Given the description of an element on the screen output the (x, y) to click on. 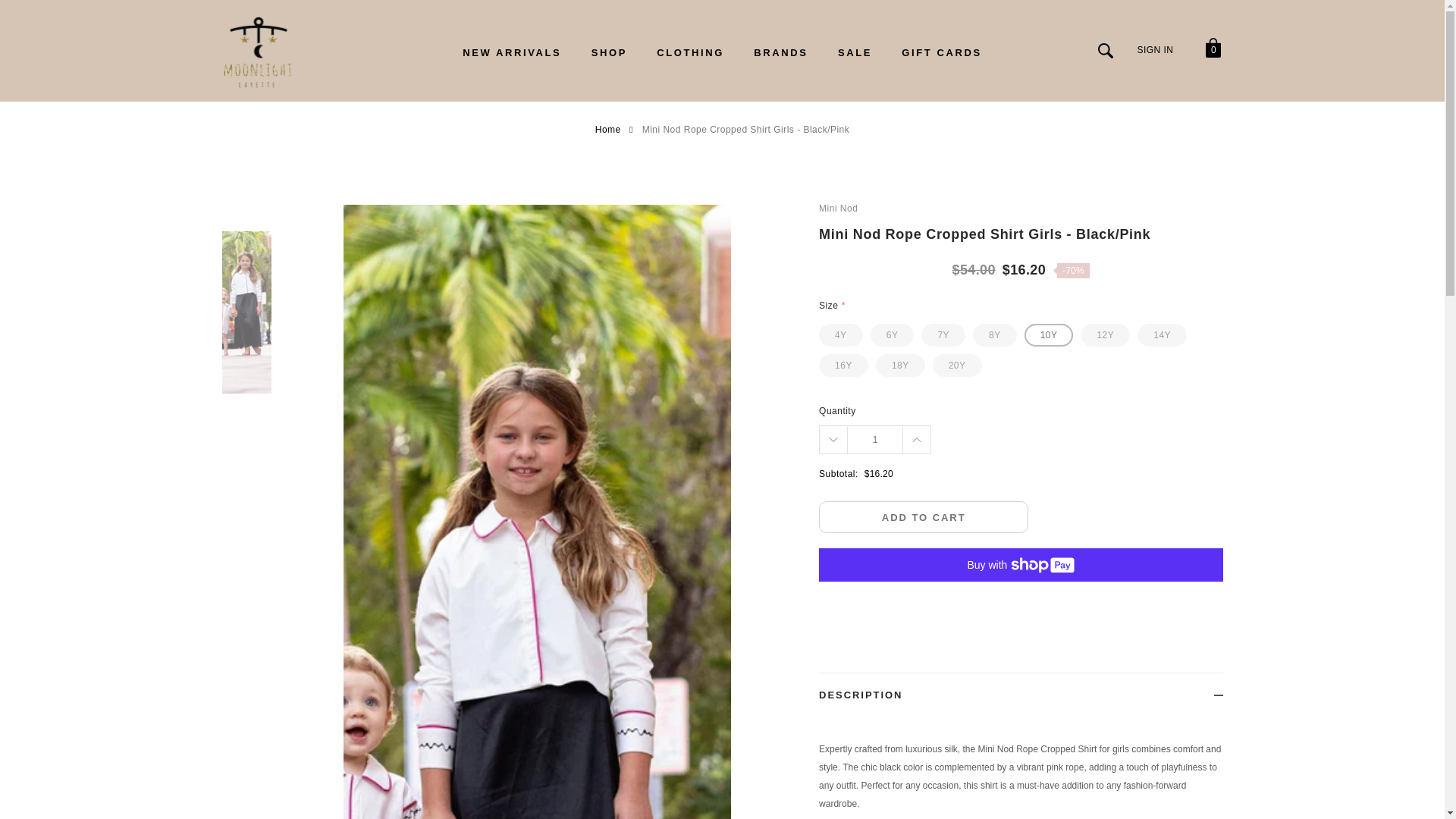
Mini Nod (1020, 209)
14Y (1161, 334)
7Y (943, 334)
20Y (957, 364)
18Y (900, 364)
0 (1212, 50)
NEW ARRIVALS (511, 51)
10Y (1049, 334)
12Y (1104, 334)
6Y (892, 334)
1 (874, 439)
8Y (994, 334)
16Y (842, 364)
SIGN IN (1155, 49)
4Y (840, 334)
